Given the description of an element on the screen output the (x, y) to click on. 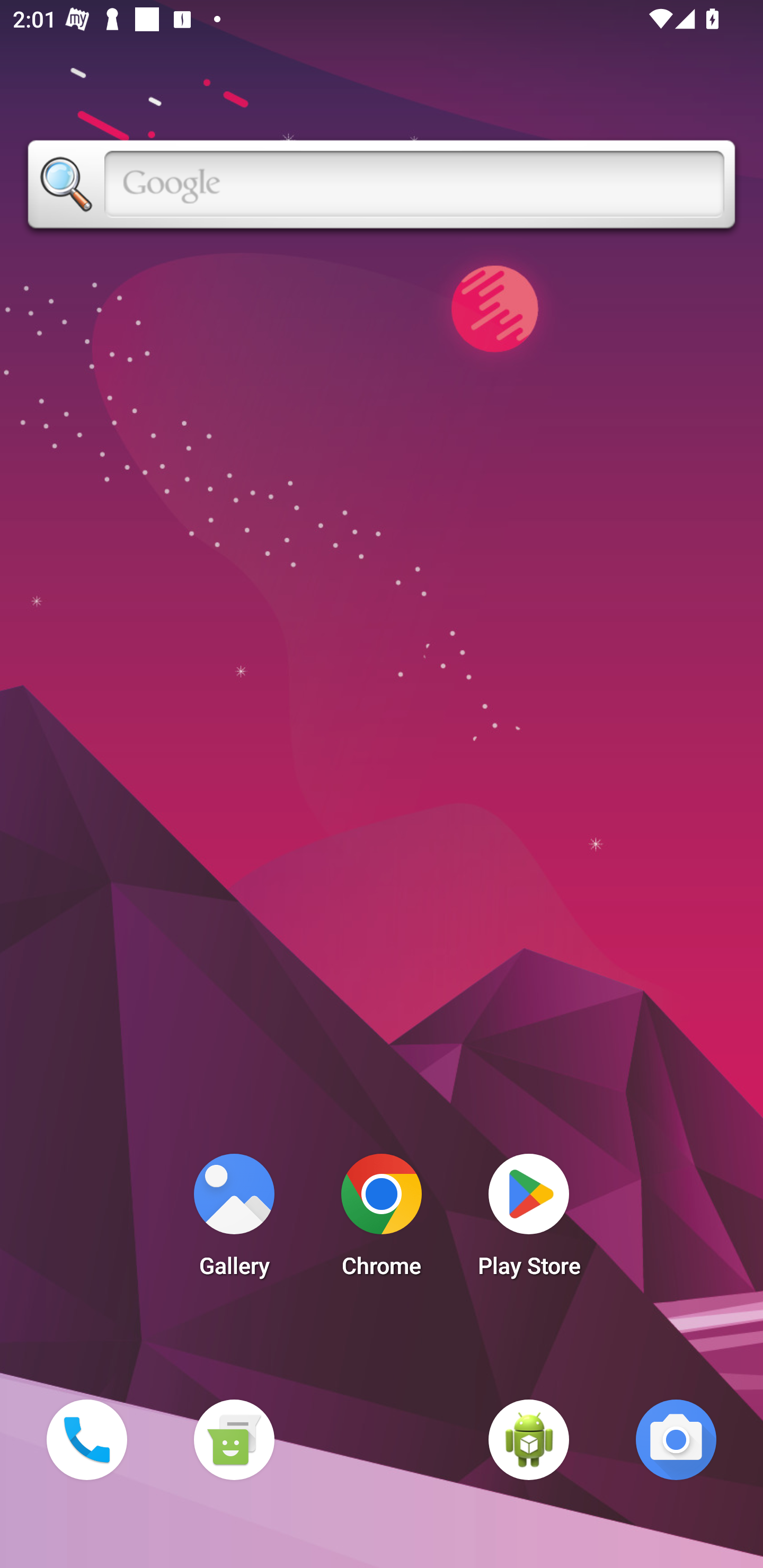
Gallery (233, 1220)
Chrome (381, 1220)
Play Store (528, 1220)
Phone (86, 1439)
Messaging (233, 1439)
WebView Browser Tester (528, 1439)
Camera (676, 1439)
